Given the description of an element on the screen output the (x, y) to click on. 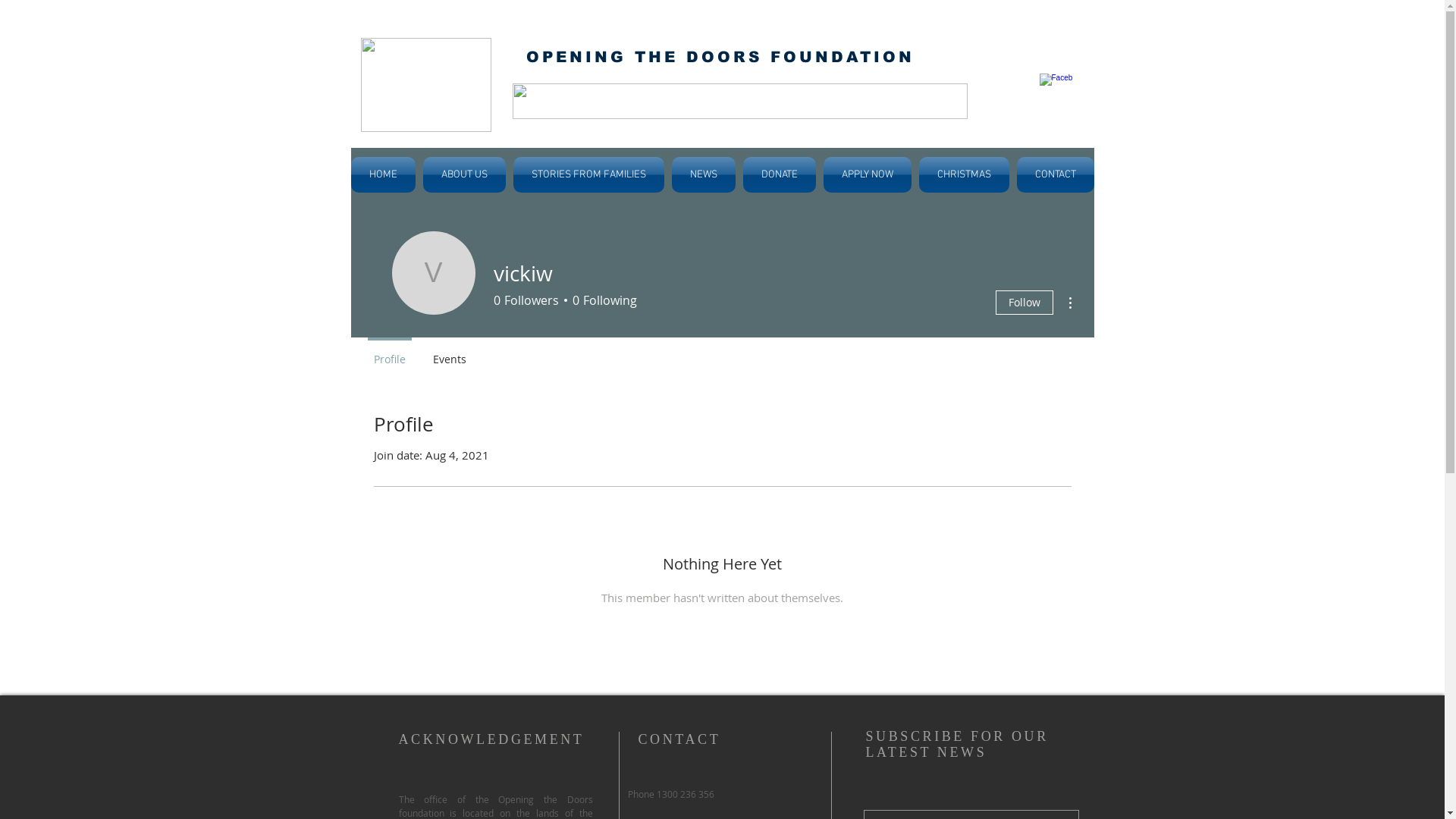
DONATE Element type: text (778, 174)
CHRISTMAS Element type: text (963, 174)
Follow Element type: text (1023, 302)
OPENING THE DOORS FOUNDATION Element type: text (720, 56)
ABOUT US Element type: text (463, 174)
CONTACT Element type: text (1053, 174)
STORIES FROM FAMILIES Element type: text (588, 174)
NEWS Element type: text (702, 174)
0
Followers Element type: text (525, 299)
Profile Element type: text (388, 352)
HOME Element type: text (384, 174)
APPLY NOW Element type: text (866, 174)
Events Element type: text (448, 352)
0
Following Element type: text (602, 299)
